Given the description of an element on the screen output the (x, y) to click on. 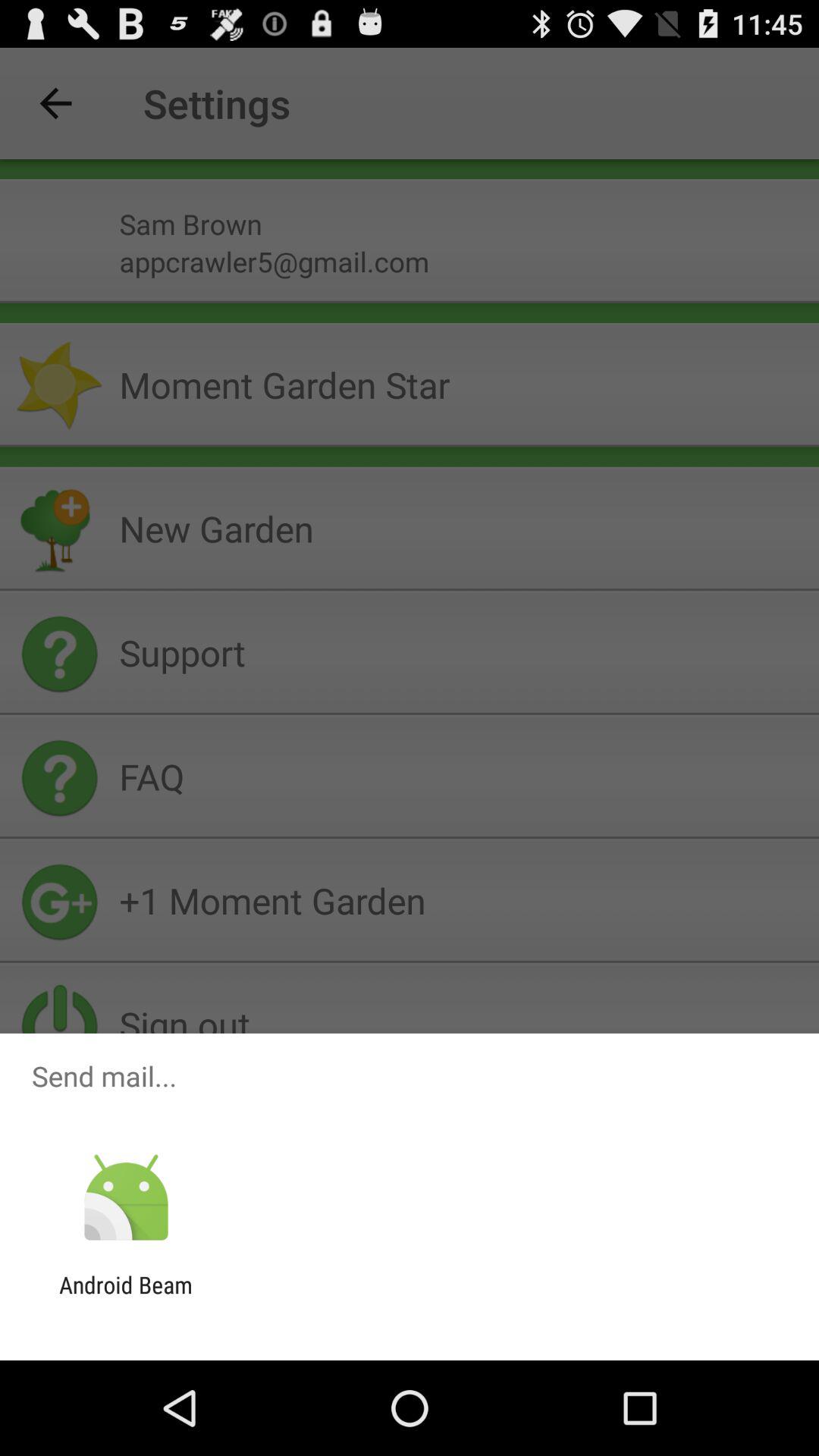
jump until the android beam (125, 1298)
